Given the description of an element on the screen output the (x, y) to click on. 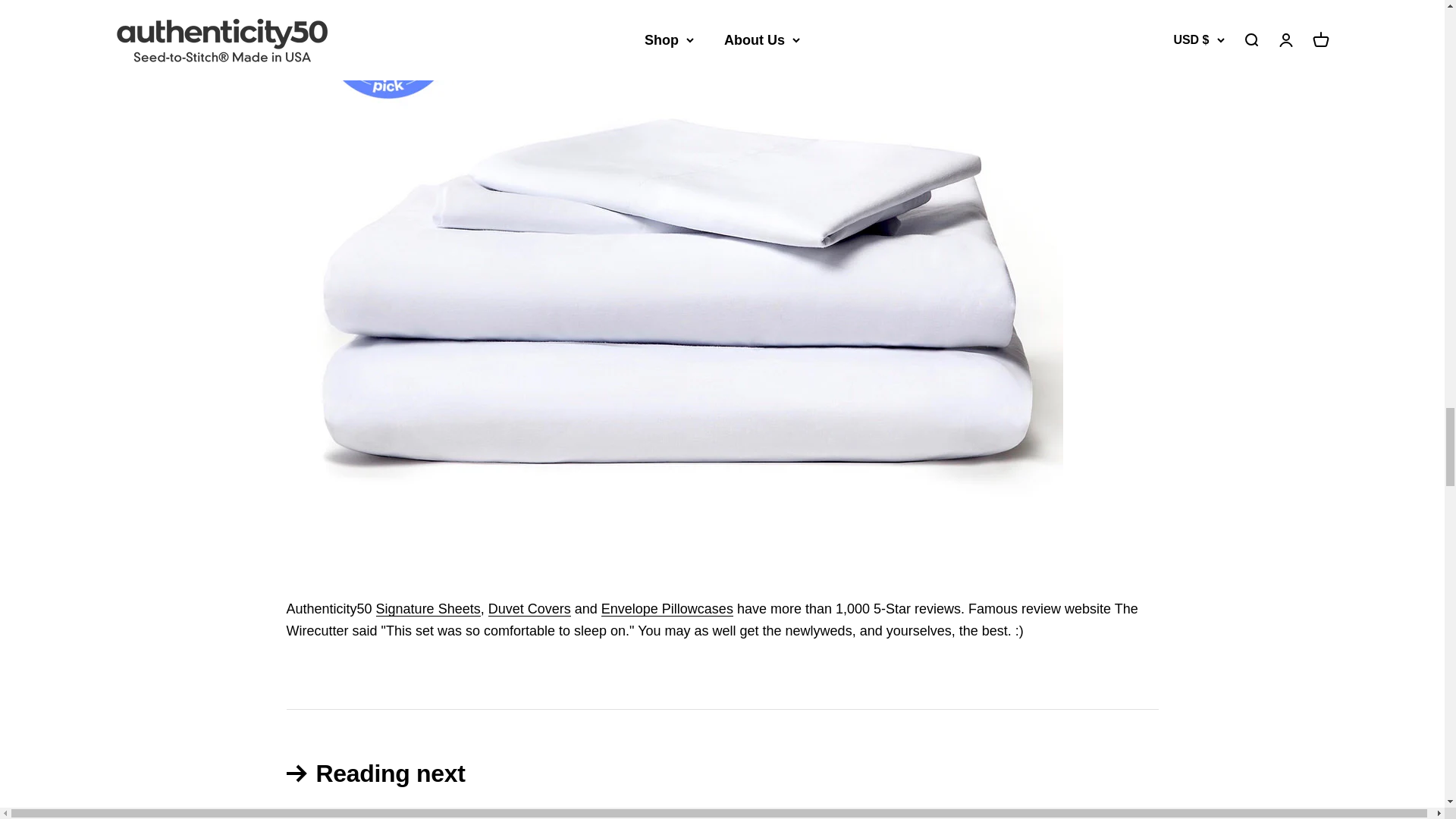
american made pima cotton bed sheets (427, 608)
pima cotton pillowcases (667, 608)
American made duvet covers pima cotton (528, 608)
